Given the description of an element on the screen output the (x, y) to click on. 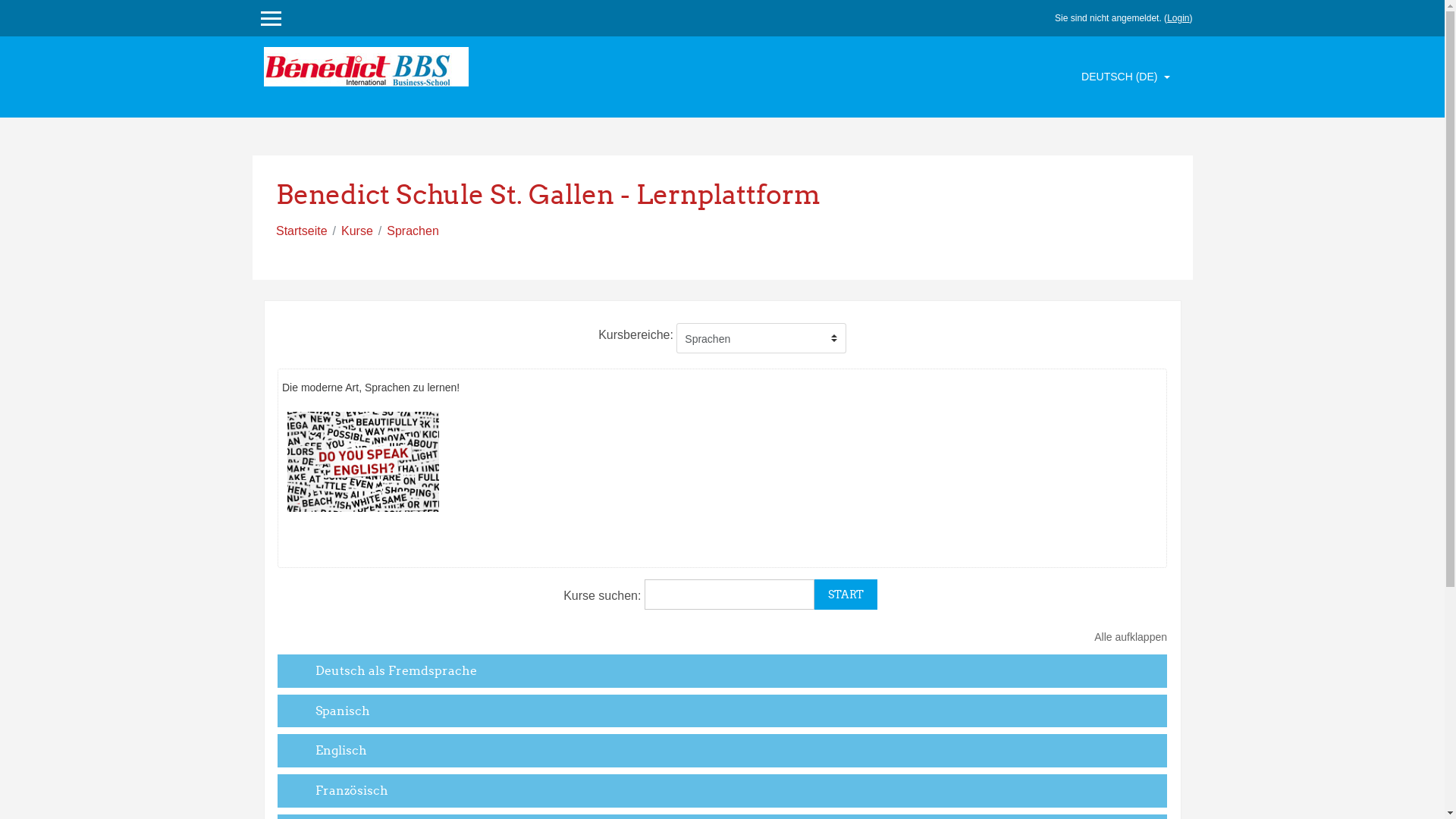
Deutsch als Fremdsprache Element type: text (395, 669)
Sprachen Element type: text (412, 230)
Start Element type: text (845, 594)
Kurse Element type: text (357, 230)
Startseite Element type: text (301, 230)
Spanisch Element type: text (342, 710)
Englisch Element type: text (341, 749)
Alle aufklappen Element type: text (1123, 636)
DEUTSCH (DE) Element type: text (1125, 76)
Login Element type: text (1178, 17)
